Given the description of an element on the screen output the (x, y) to click on. 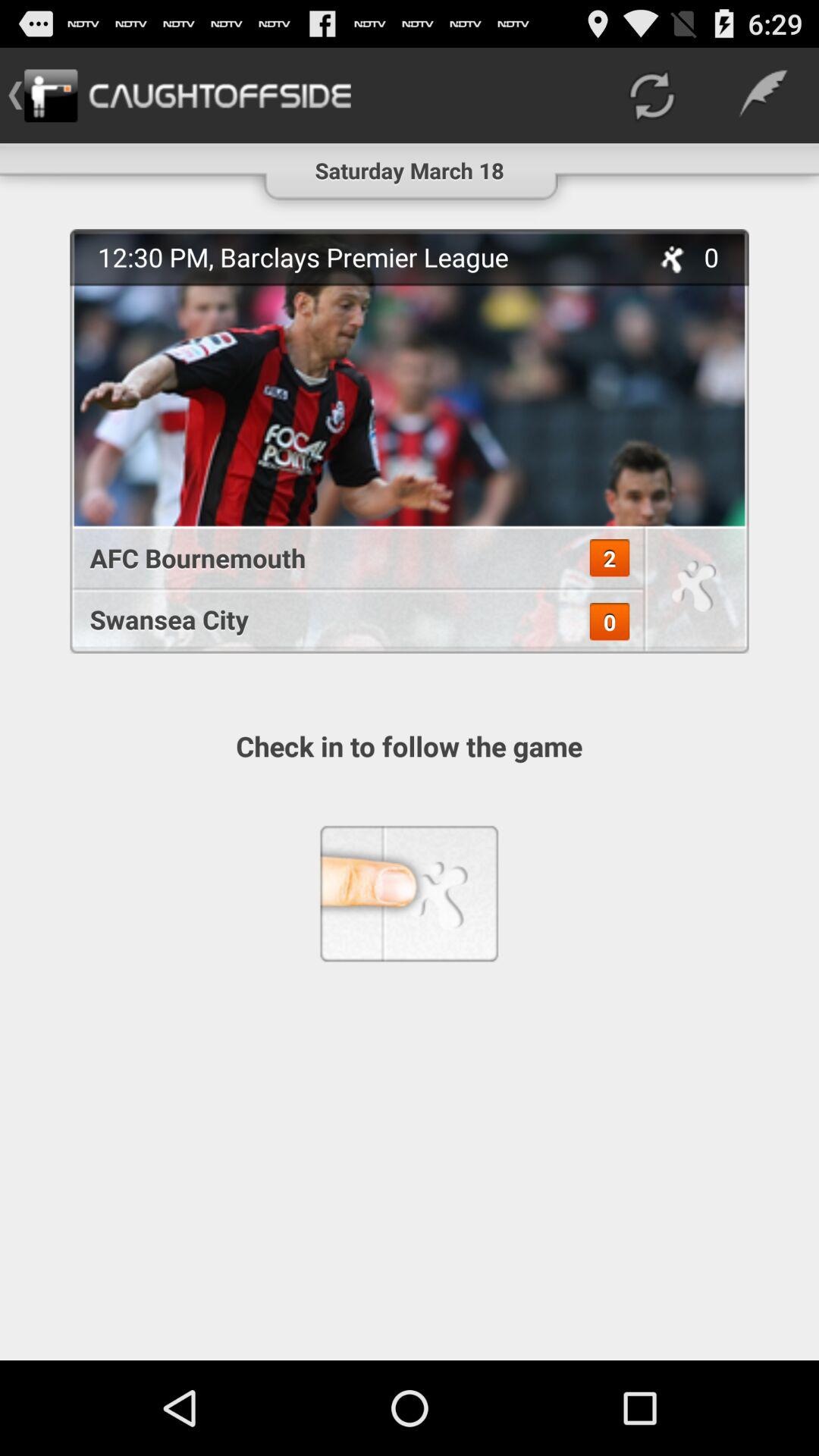
tap item below 12 30 pm icon (348, 557)
